Given the description of an element on the screen output the (x, y) to click on. 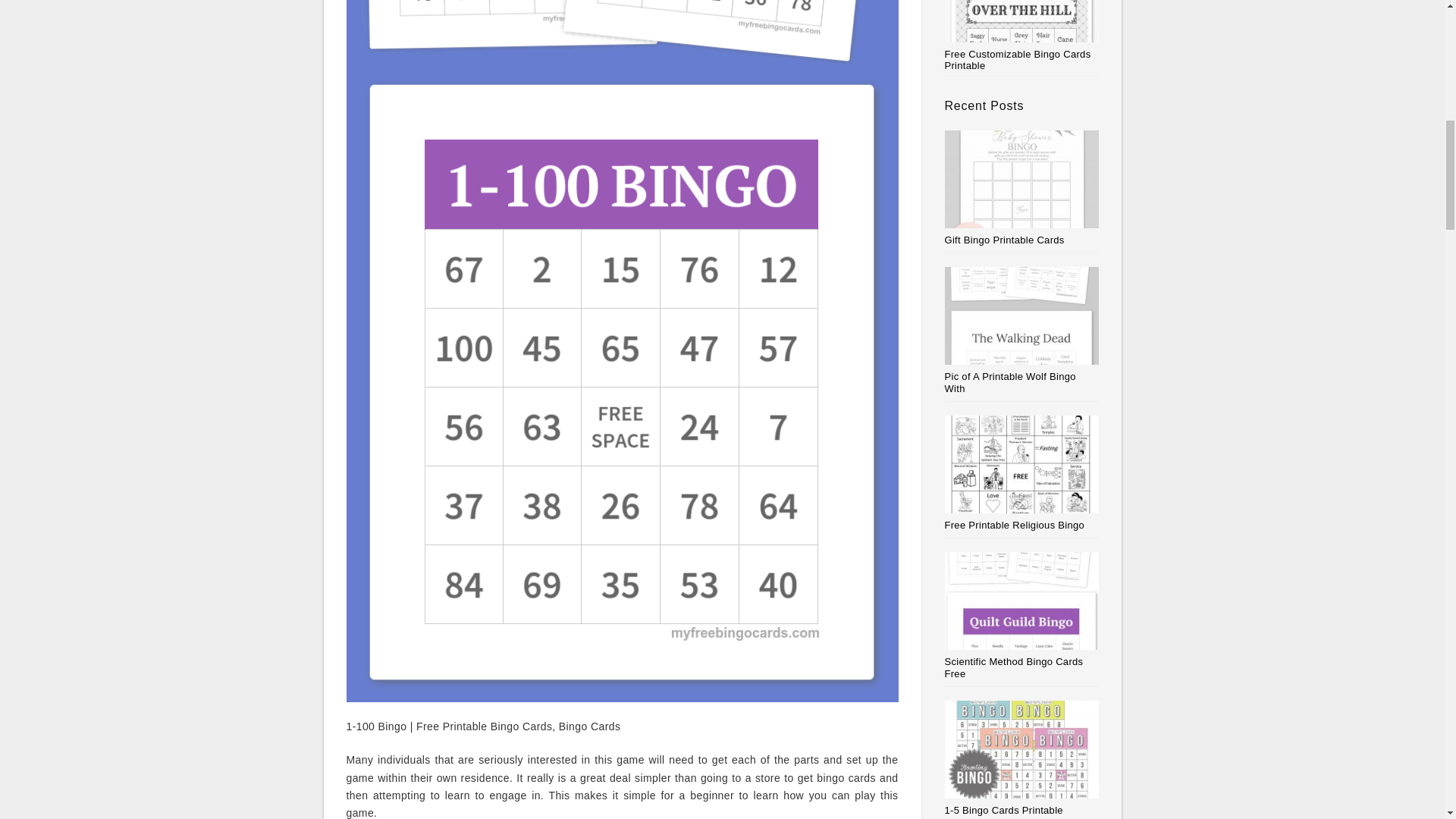
Free Printable Religious Bingo (1014, 524)
Gift Bingo Printable Cards (1004, 239)
1-5 Bingo Cards Printable (1003, 809)
Scientific Method Bingo Cards Free (1013, 667)
Free Customizable Bingo Cards Printable (1021, 36)
Pic of A Printable Wolf Bingo With (1009, 382)
